Given the description of an element on the screen output the (x, y) to click on. 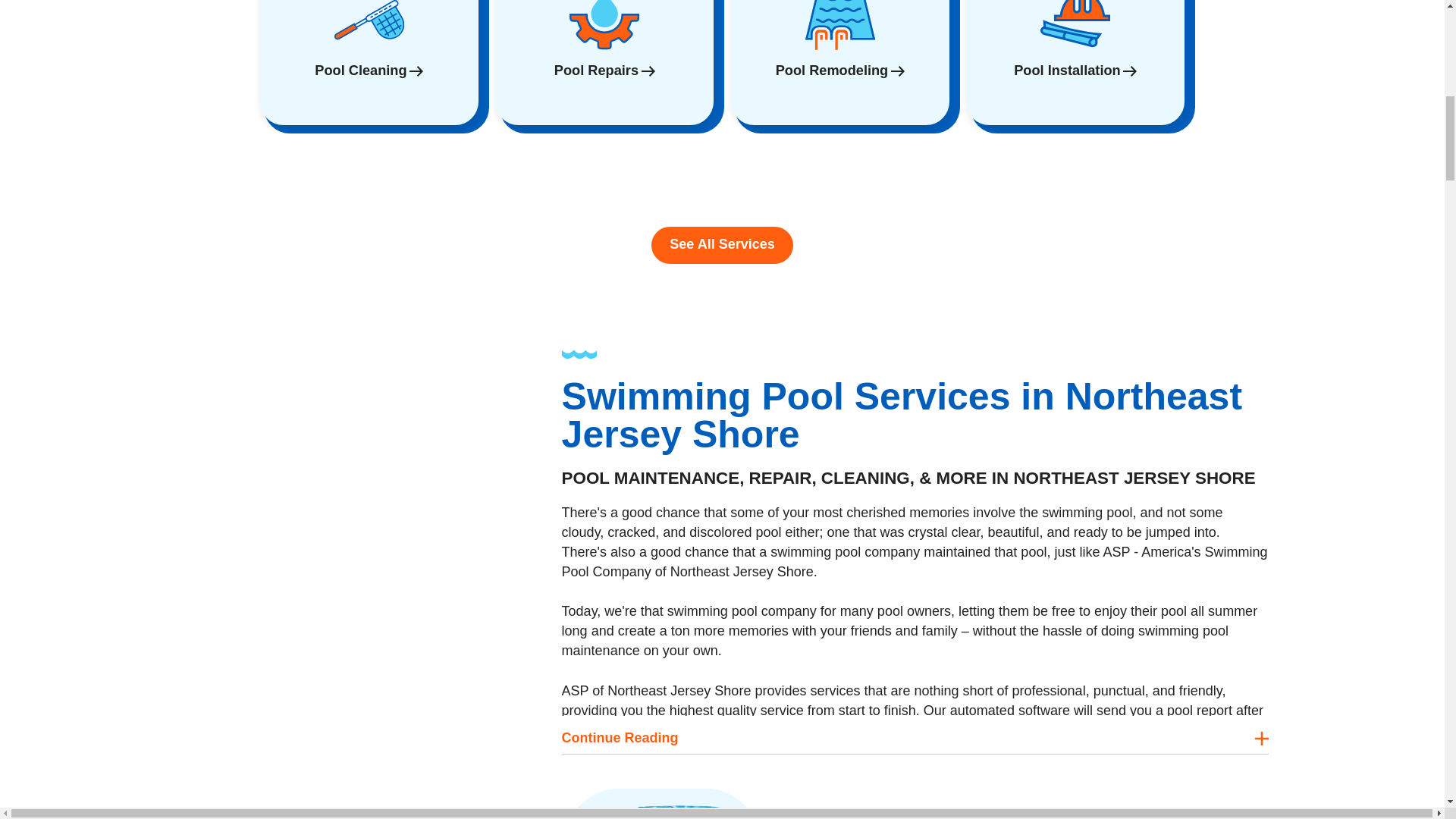
 Icon (369, 27)
 Icon (840, 27)
 Icon (604, 27)
 Icon (1075, 27)
Plus sign (1260, 738)
